Given the description of an element on the screen output the (x, y) to click on. 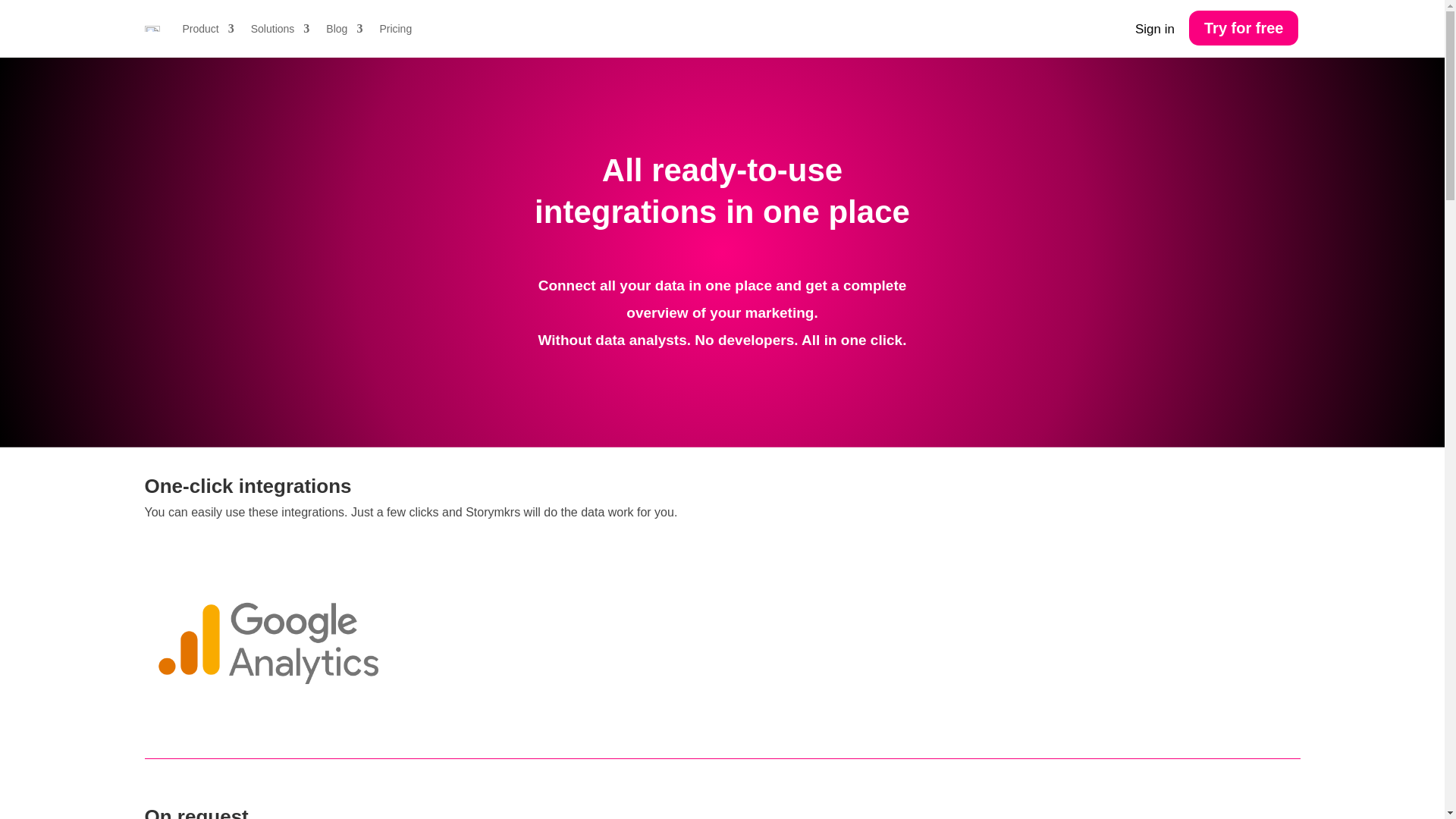
Try for free (1244, 27)
Product (207, 28)
Google Analytics (264, 640)
Solutions (280, 28)
Sign in (1155, 30)
